Given the description of an element on the screen output the (x, y) to click on. 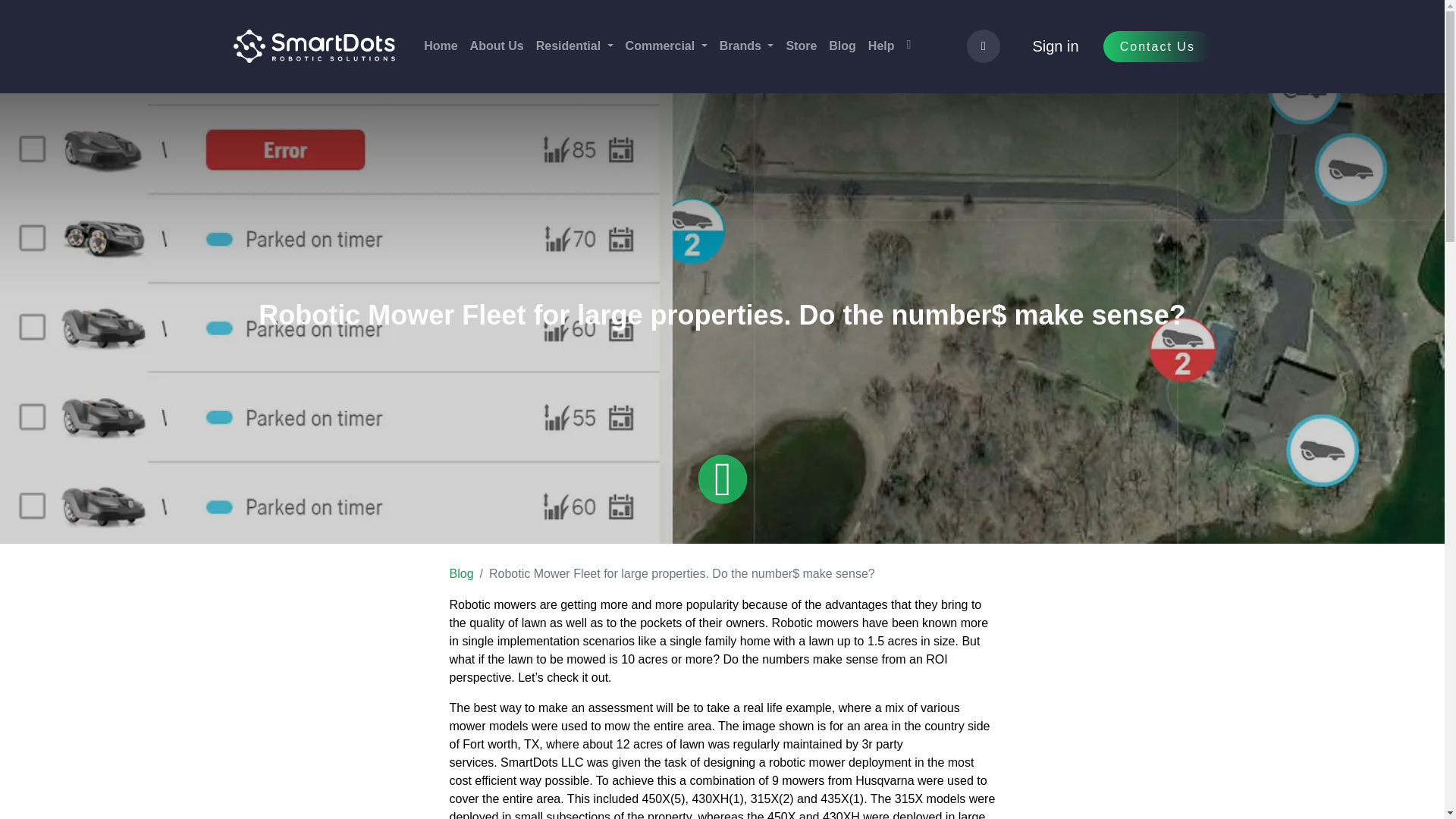
Residential (574, 46)
Contact Us (1157, 46)
Commercial (666, 46)
Blog (841, 46)
Sign in (1055, 45)
Help (881, 46)
Brands (746, 46)
SmartDots (314, 46)
Store (800, 46)
Home (440, 46)
About Us (496, 46)
